Given the description of an element on the screen output the (x, y) to click on. 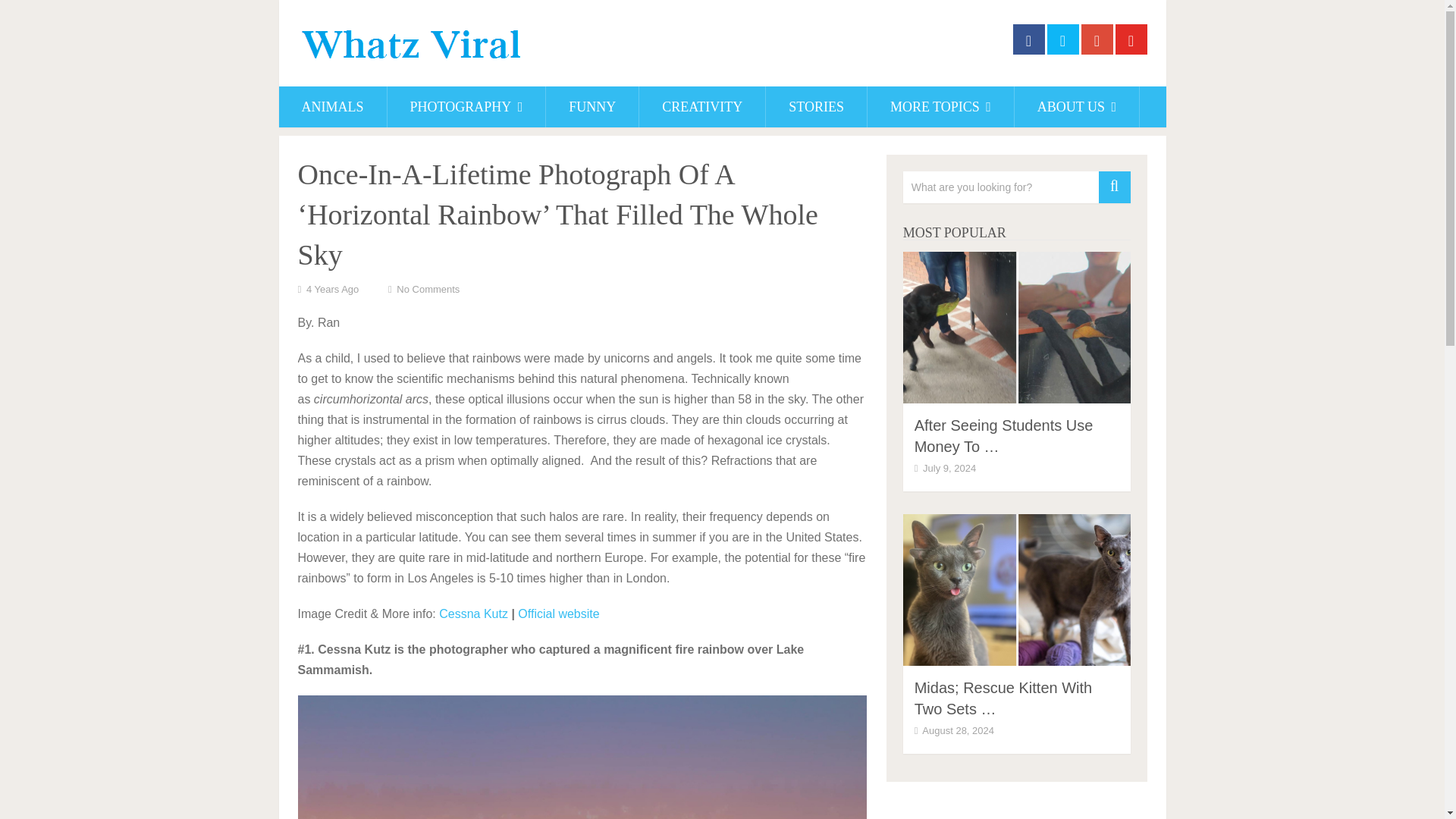
ANIMALS (333, 106)
CREATIVITY (702, 106)
PHOTOGRAPHY (466, 106)
FUNNY (592, 106)
MORE TOPICS (940, 106)
No Comments (428, 288)
STORIES (815, 106)
Cessna Kutz (473, 613)
ABOUT US (1076, 106)
